Given the description of an element on the screen output the (x, y) to click on. 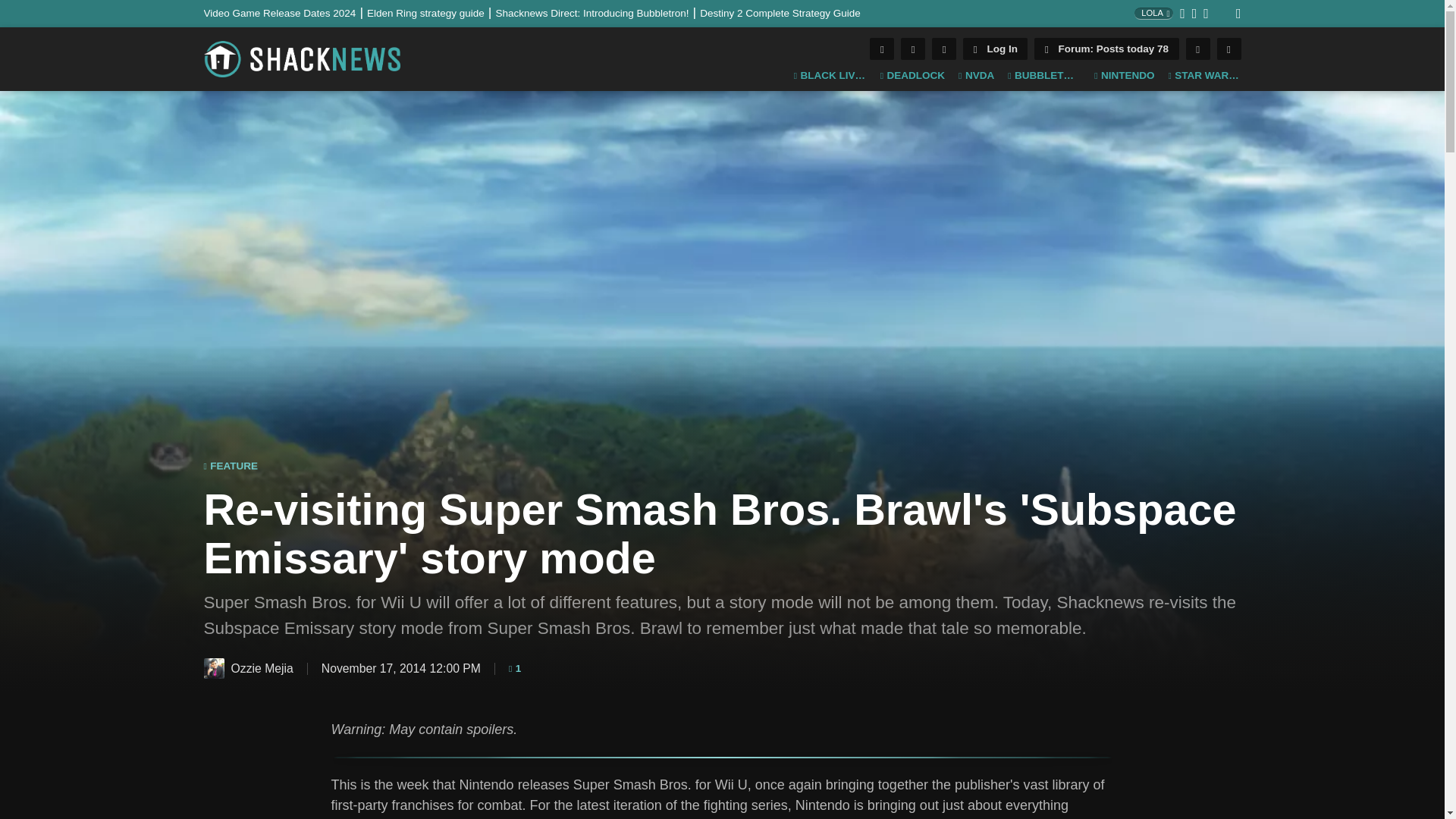
FEATURE (230, 466)
Video Game Release Dates 2024 (284, 11)
BUBBLETRON (1043, 75)
Shacknews Direct: Introducing Bubbletron! (597, 11)
Ozzie Mejia (213, 668)
BLACK LIVES MATTER (829, 75)
NVDA (976, 75)
Elden Ring strategy guide (430, 11)
Destiny 2 Complete Strategy Guide (780, 11)
NINTENDO (1124, 75)
